Given the description of an element on the screen output the (x, y) to click on. 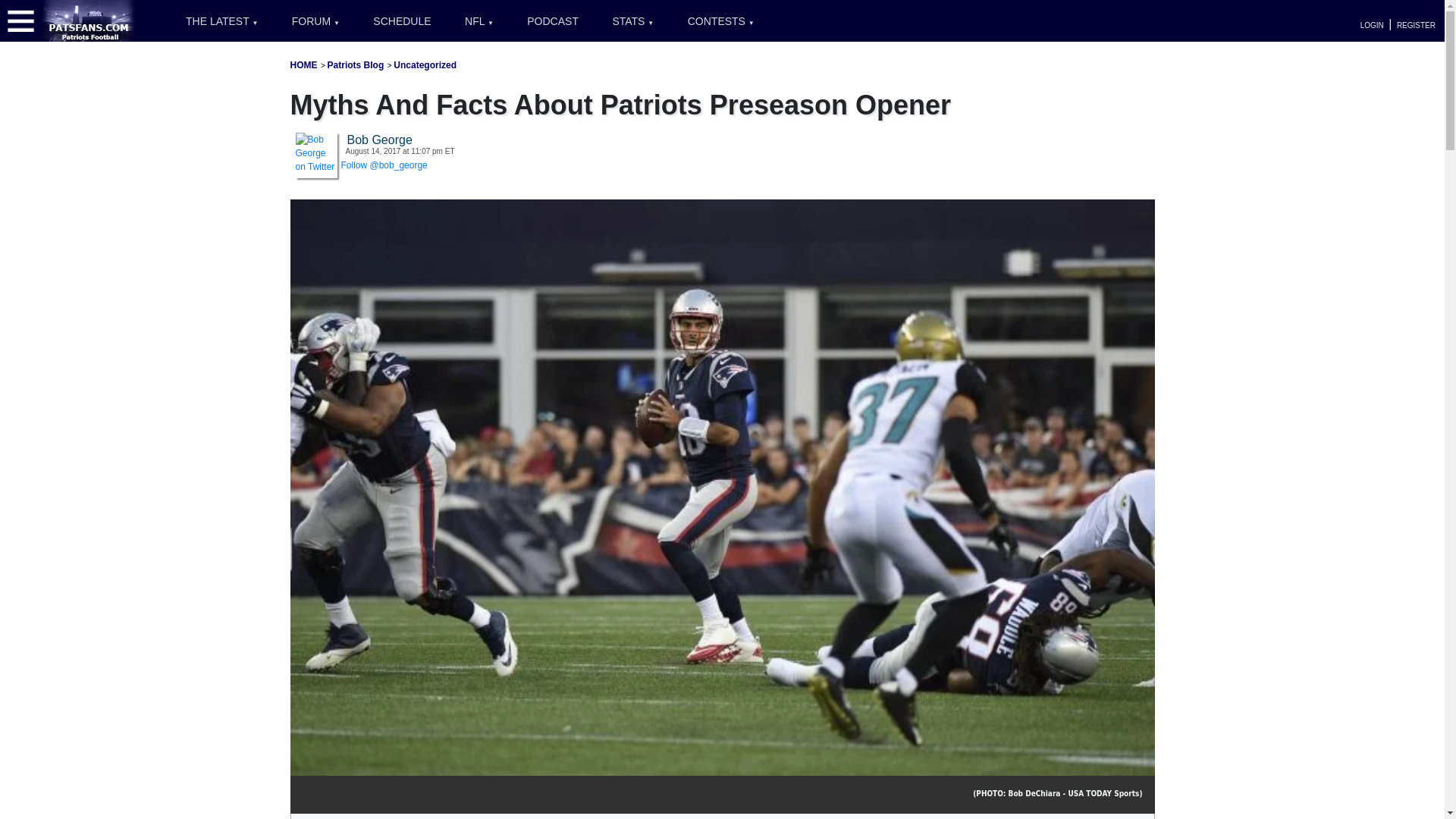
New England Patriots at PatsFans.com (303, 64)
Patriots Blog (355, 64)
PODCAST (553, 21)
Bob George on PatsFans.com (316, 152)
PatsFans.com (89, 19)
SCHEDULE (401, 21)
Uncategorized (425, 64)
